Given the description of an element on the screen output the (x, y) to click on. 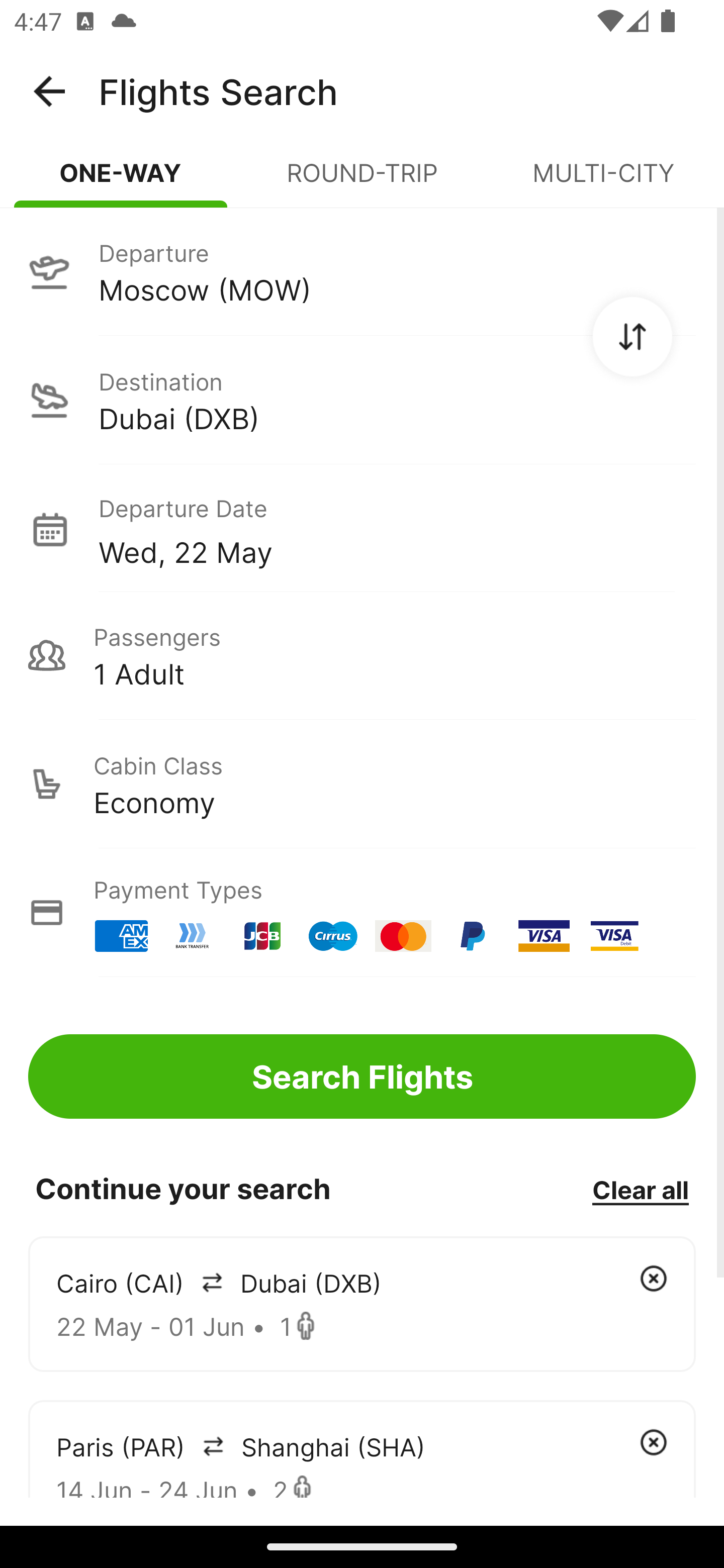
ONE-WAY (120, 180)
ROUND-TRIP (361, 180)
MULTI-CITY (603, 180)
Departure Moscow (MOW) (362, 270)
Destination Dubai (DXB) (362, 400)
Departure Date Wed, 22 May (396, 528)
Passengers 1 Adult (362, 655)
Cabin Class Economy (362, 783)
Payment Types (362, 912)
Search Flights (361, 1075)
Clear all (640, 1189)
